Given the description of an element on the screen output the (x, y) to click on. 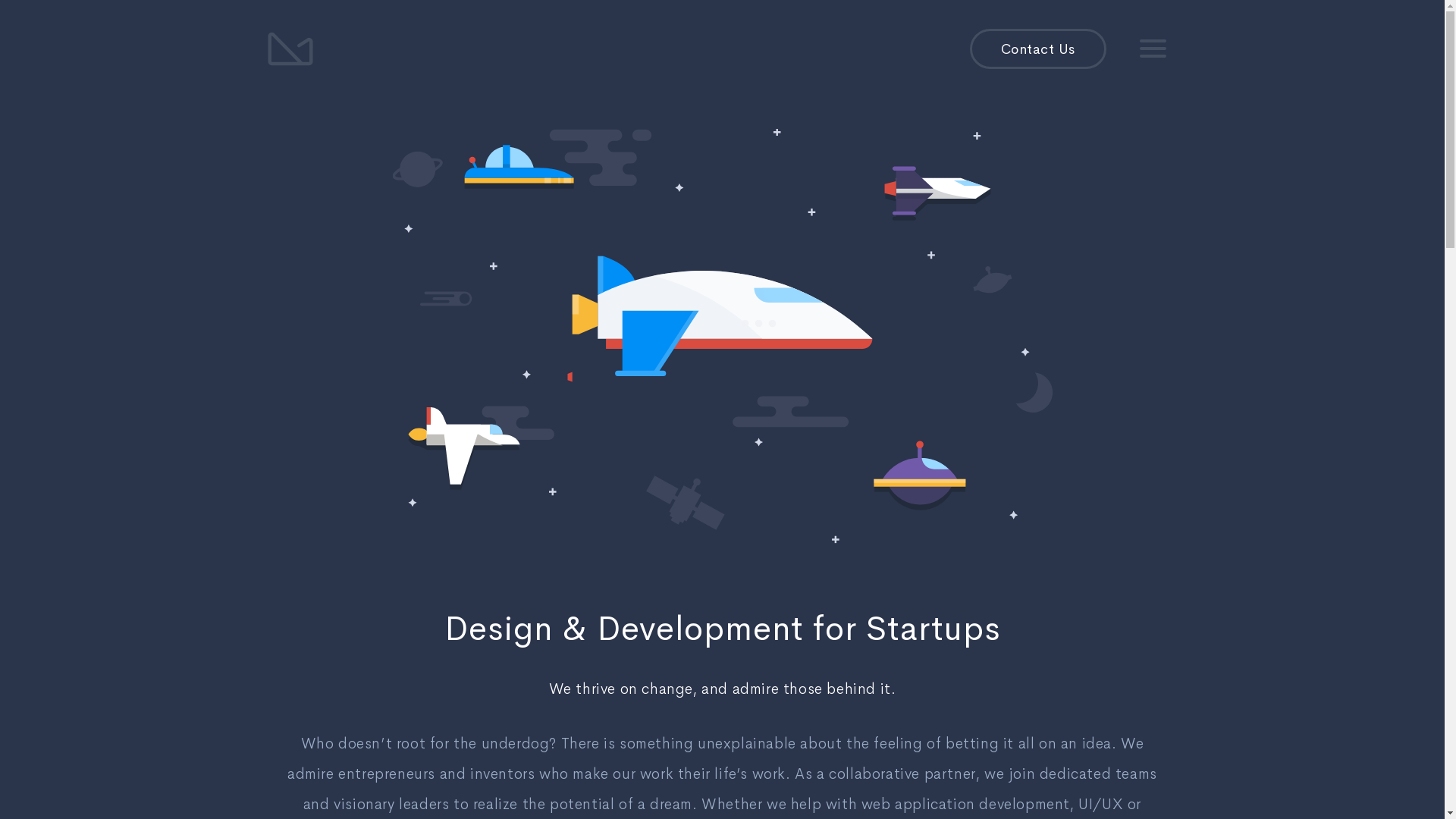
Contact Us Element type: text (1037, 48)
